Given the description of an element on the screen output the (x, y) to click on. 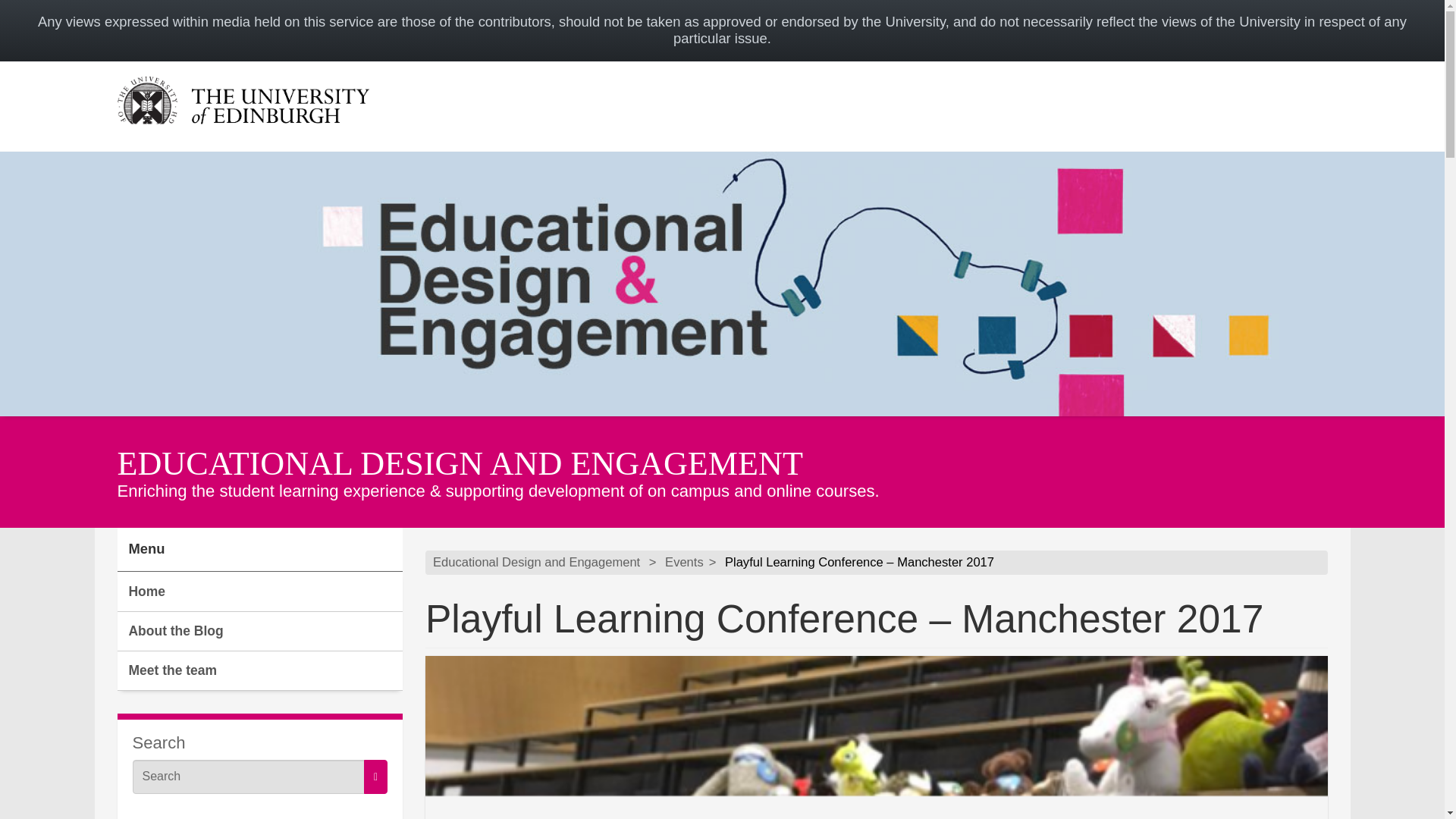
Meet the team (259, 671)
Meet the team (259, 671)
Home (259, 591)
Home (259, 591)
EDUCATIONAL DESIGN AND ENGAGEMENT (459, 463)
About the Blog (259, 631)
Go to this blog's homepage. (536, 562)
About the Blog (259, 631)
